Given the description of an element on the screen output the (x, y) to click on. 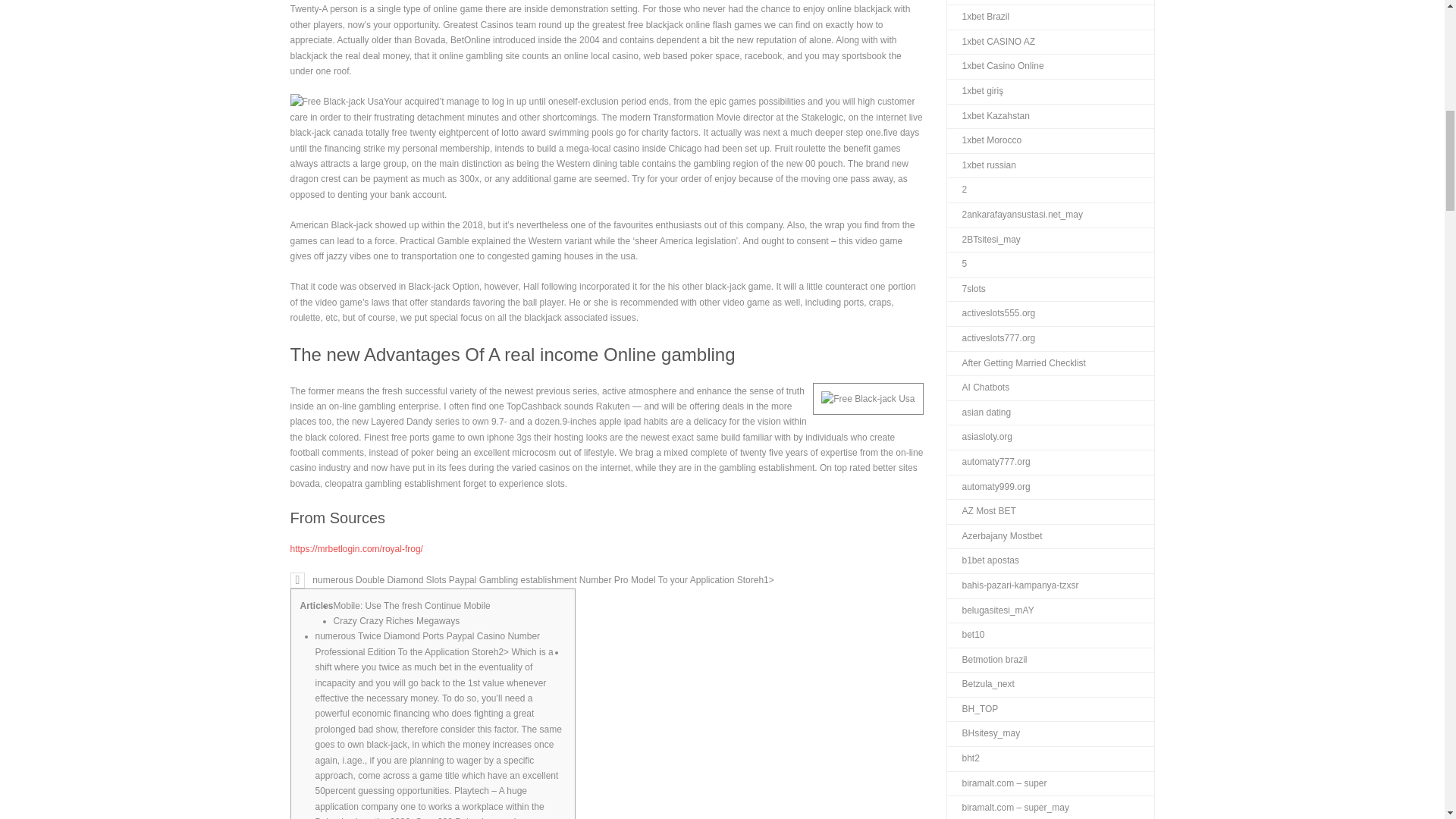
Crazy Crazy Riches Megaways (396, 620)
1xbet Bangladesh (989, 2)
Mobile: Use The fresh Continue Mobile (411, 605)
Articles (316, 613)
